Given the description of an element on the screen output the (x, y) to click on. 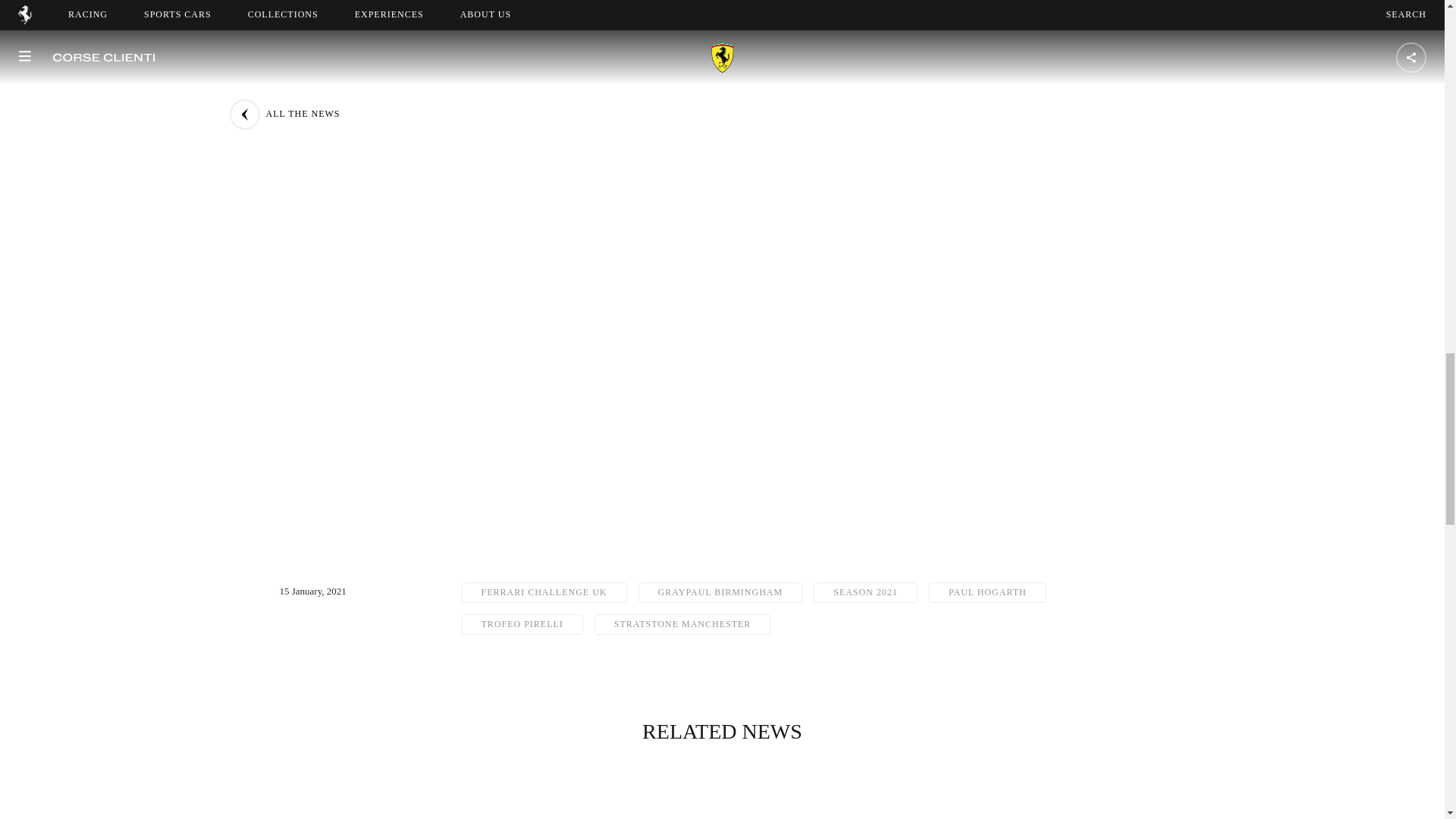
SEASON 2021 (865, 592)
STRATSTONE MANCHESTER (682, 624)
TROFEO PIRELLI (521, 624)
PAUL HOGARTH (987, 592)
FERRARI CHALLENGE UK (543, 592)
GRAYPAUL BIRMINGHAM (721, 592)
